Given the description of an element on the screen output the (x, y) to click on. 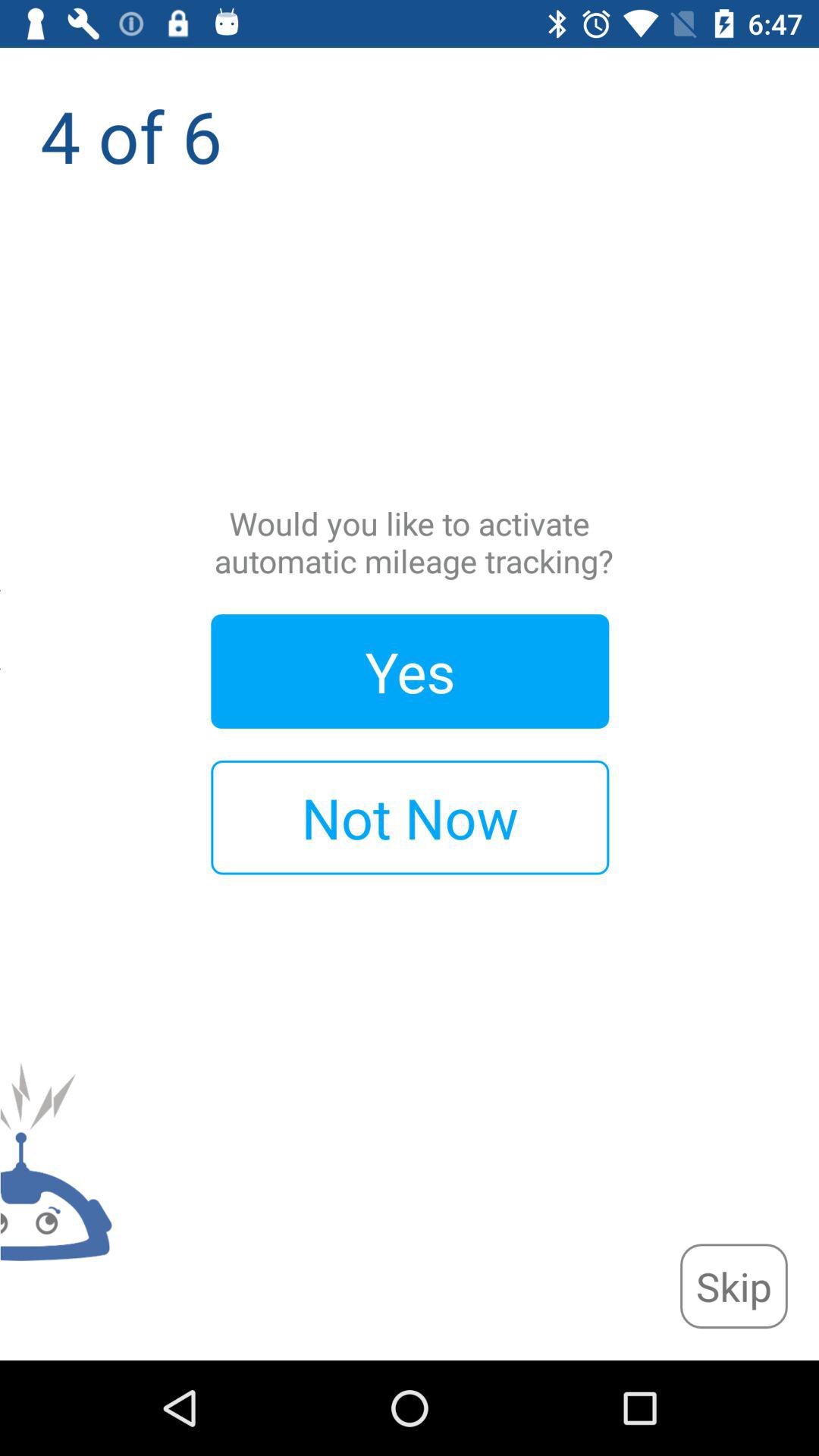
launch icon at the bottom right corner (733, 1285)
